Given the description of an element on the screen output the (x, y) to click on. 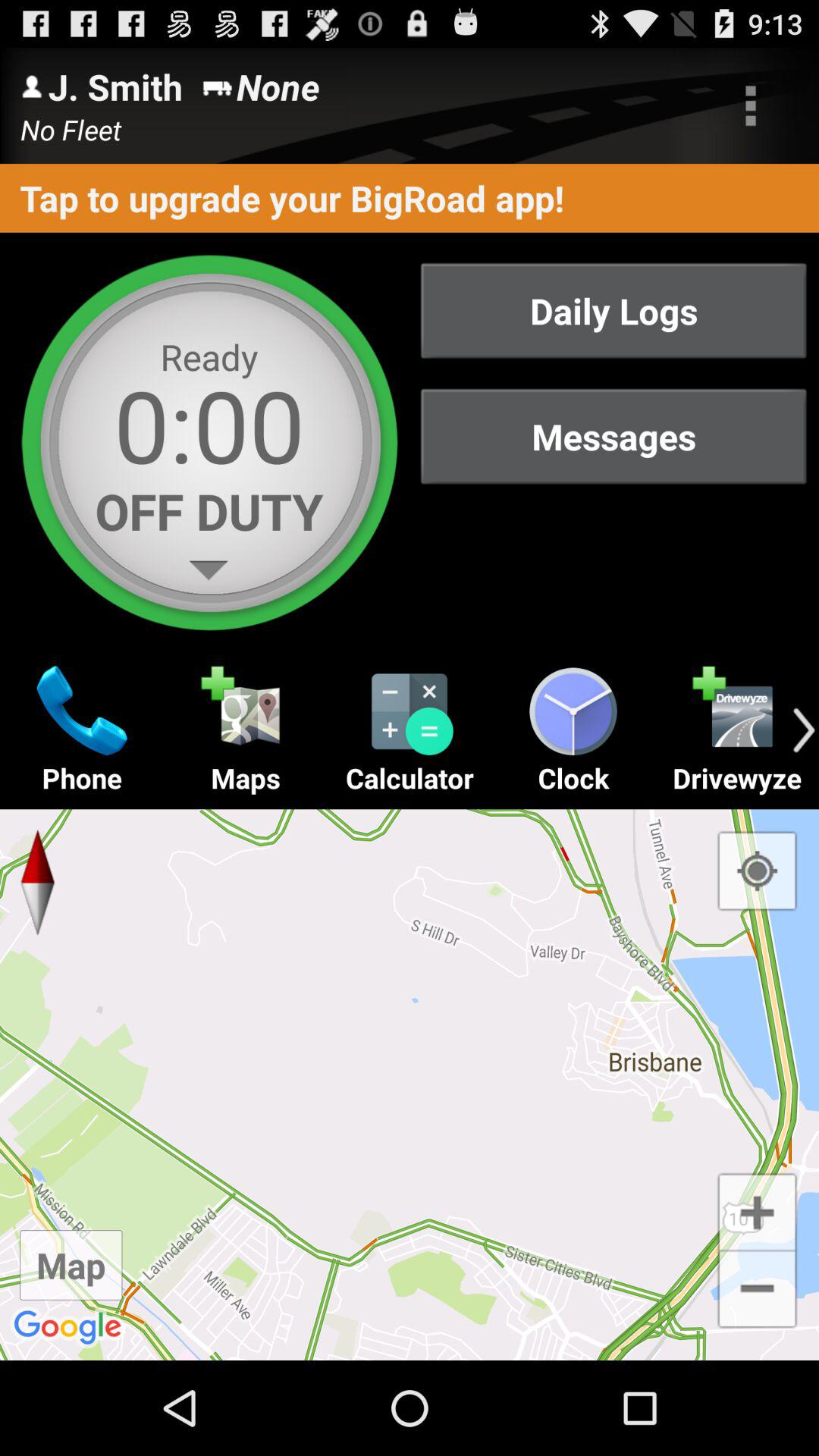
go to current location (757, 870)
